Given the description of an element on the screen output the (x, y) to click on. 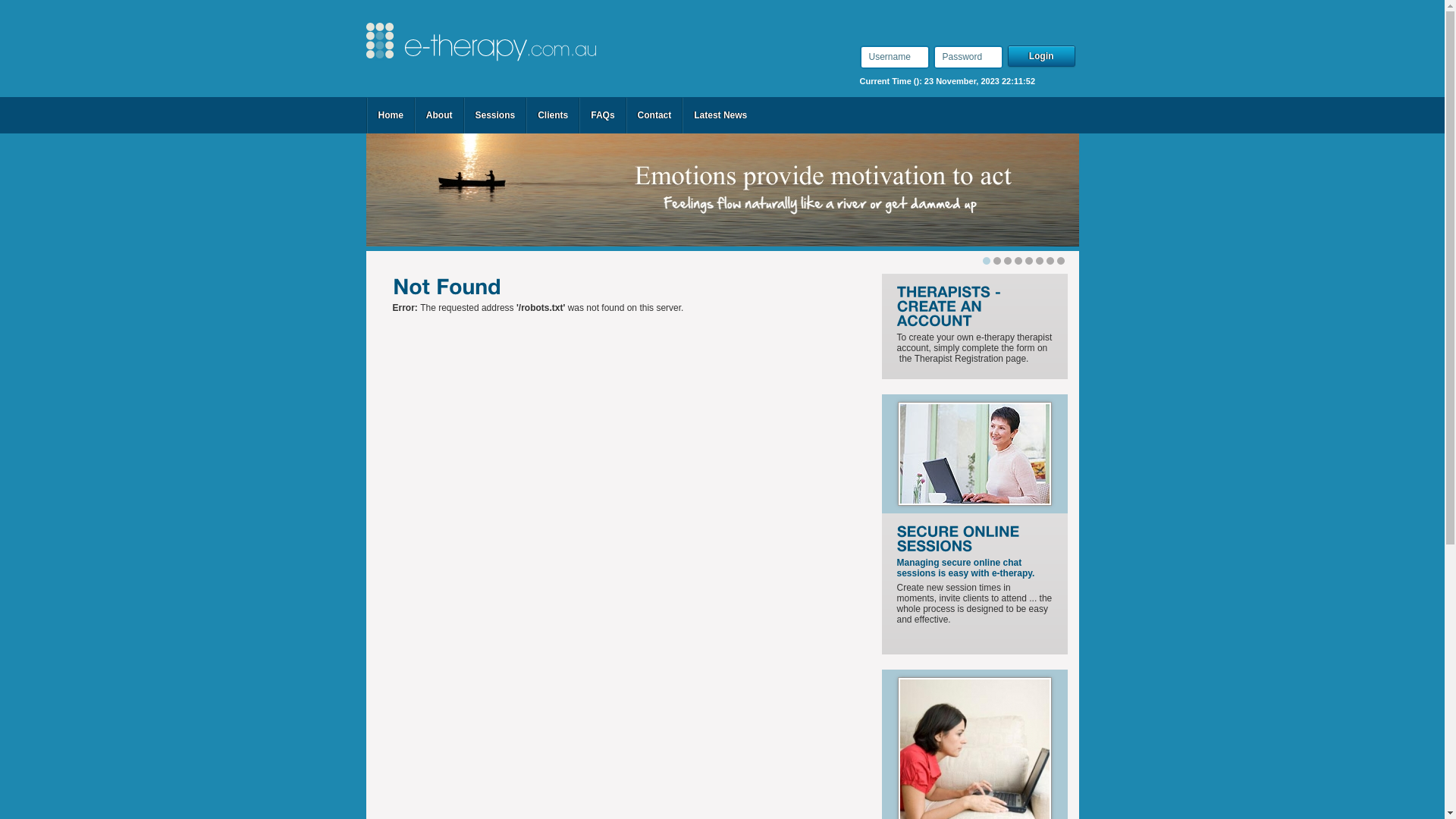
7 Element type: text (1060, 260)
Sessions Element type: text (494, 115)
About Element type: text (439, 115)
4 Element type: text (1028, 260)
5 Element type: text (1039, 260)
1 Element type: text (997, 260)
6 Element type: text (1050, 260)
2 Element type: text (1007, 260)
Emotions Element type: hover (721, 189)
Contact Element type: text (654, 115)
0 Element type: text (986, 260)
3 Element type: text (1018, 260)
Clients Element type: text (552, 115)
FAQs Element type: text (602, 115)
Home Element type: text (390, 115)
Login Element type: text (1043, 56)
Latest News Element type: text (720, 115)
